Given the description of an element on the screen output the (x, y) to click on. 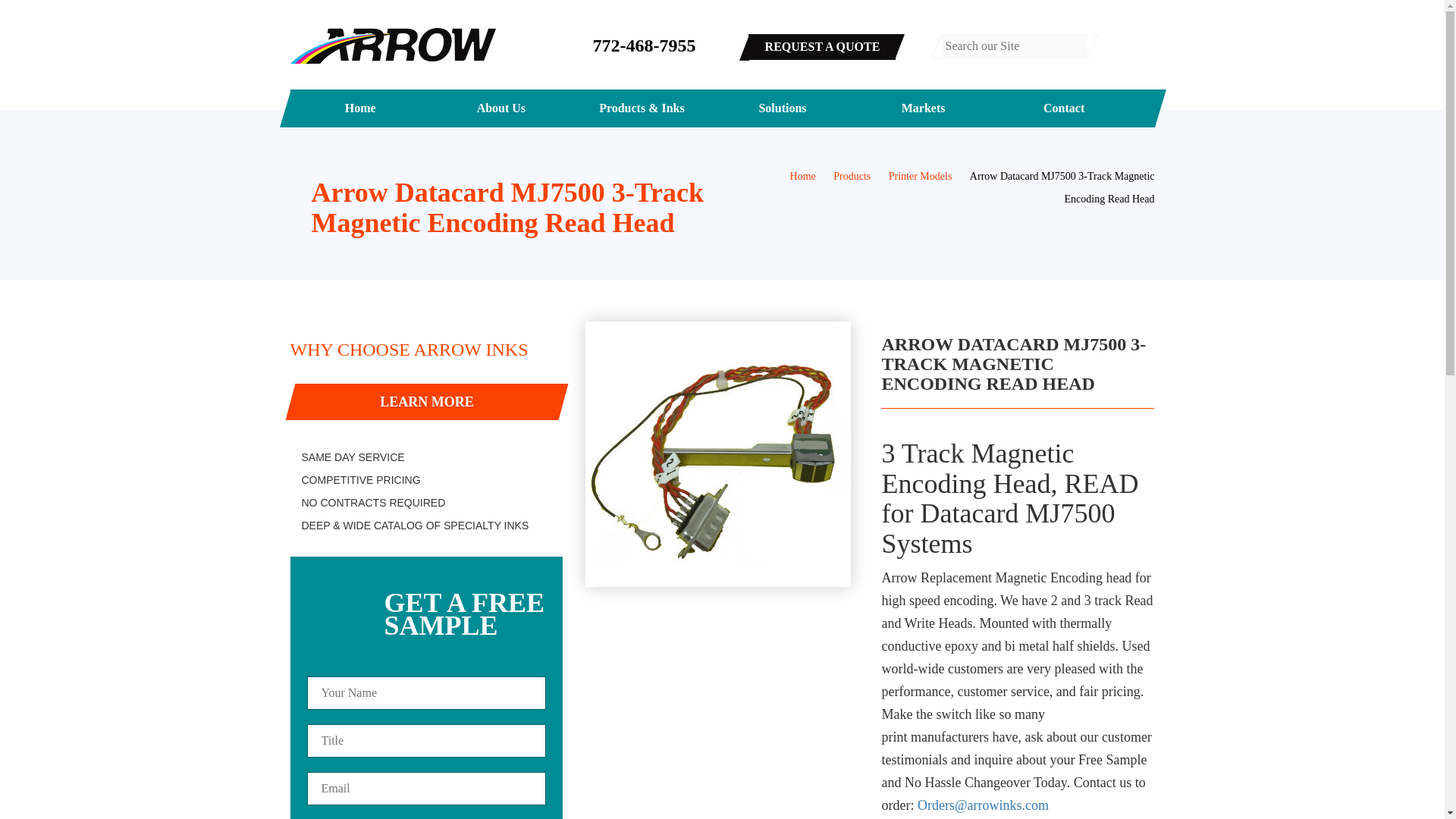
772-468-7955 (643, 45)
About Us (501, 108)
REQUEST A QUOTE (821, 46)
Home (360, 108)
Contact Arrow Inks for your Digital Ink Needs (1063, 108)
Arrow Inks Market Focus Areas (923, 108)
Solutions (782, 108)
Digital Inks, UV Inks, LED Inks, Curable Inks (642, 108)
